Given the description of an element on the screen output the (x, y) to click on. 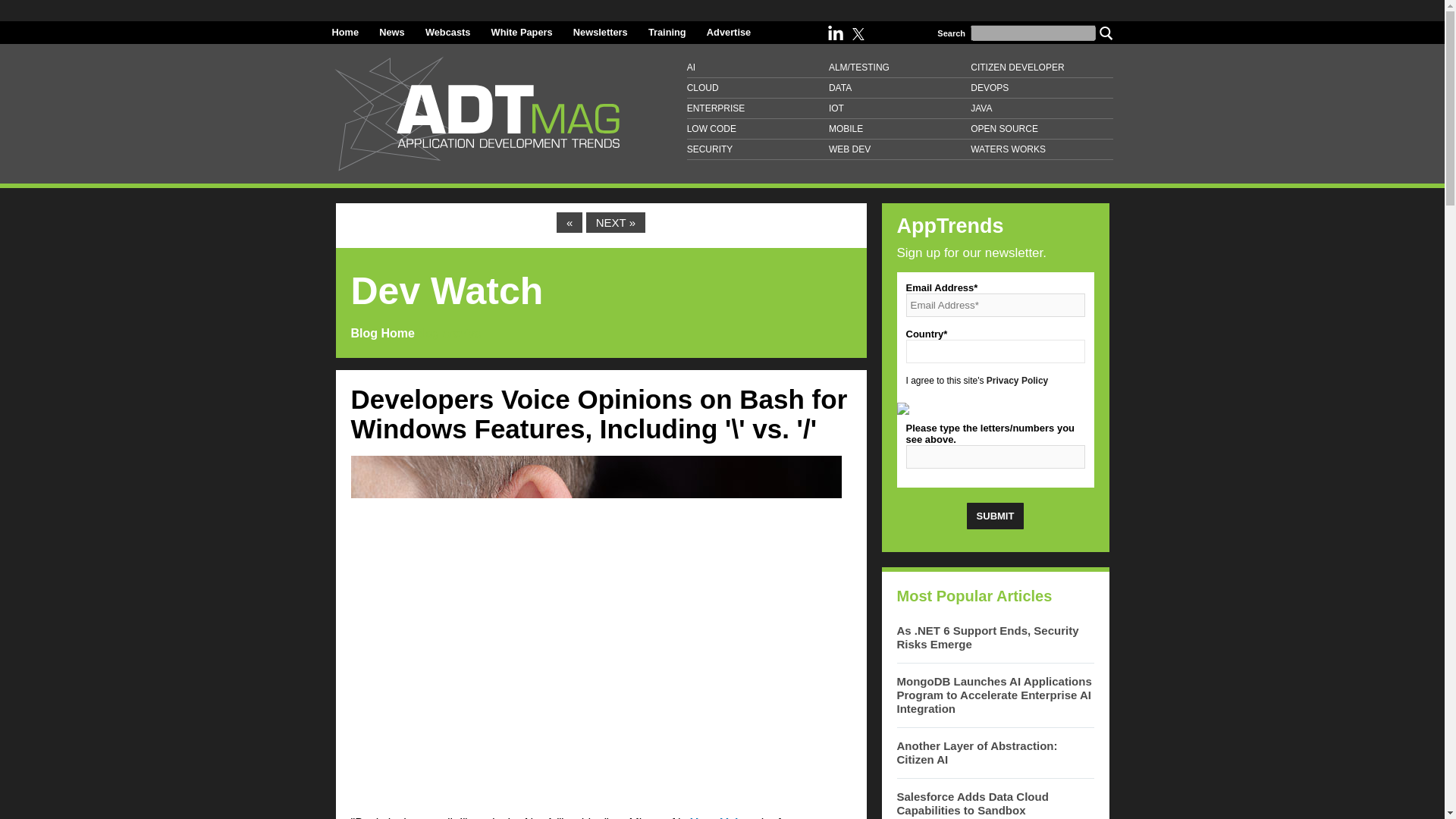
WATERS WORKS (1041, 149)
CITIZEN DEVELOPER (1041, 67)
SECURITY (757, 149)
MOBILE (899, 128)
WEB DEV (899, 149)
DEVOPS (1041, 87)
JAVA (1041, 108)
White Papers (522, 31)
News (391, 31)
Home (345, 31)
